Given the description of an element on the screen output the (x, y) to click on. 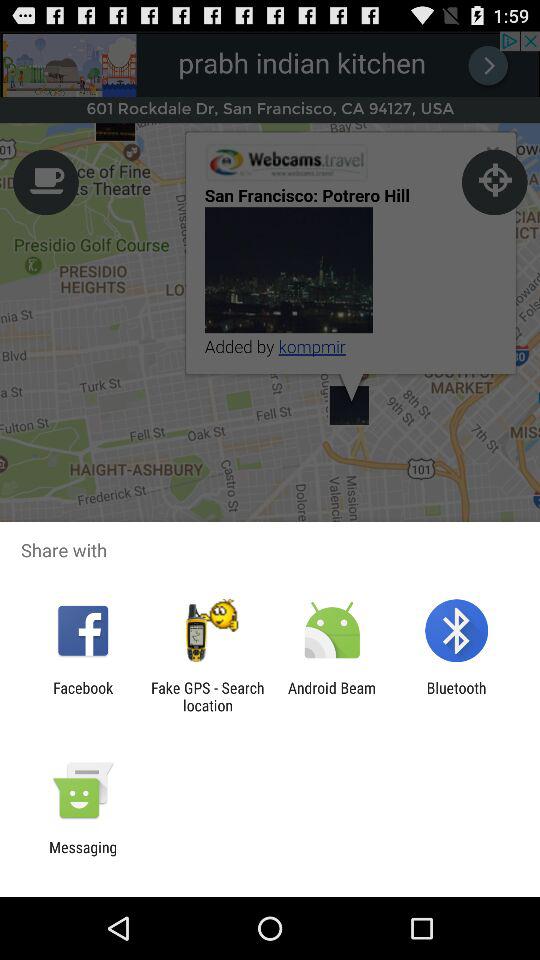
tap item to the right of fake gps search app (332, 696)
